Given the description of an element on the screen output the (x, y) to click on. 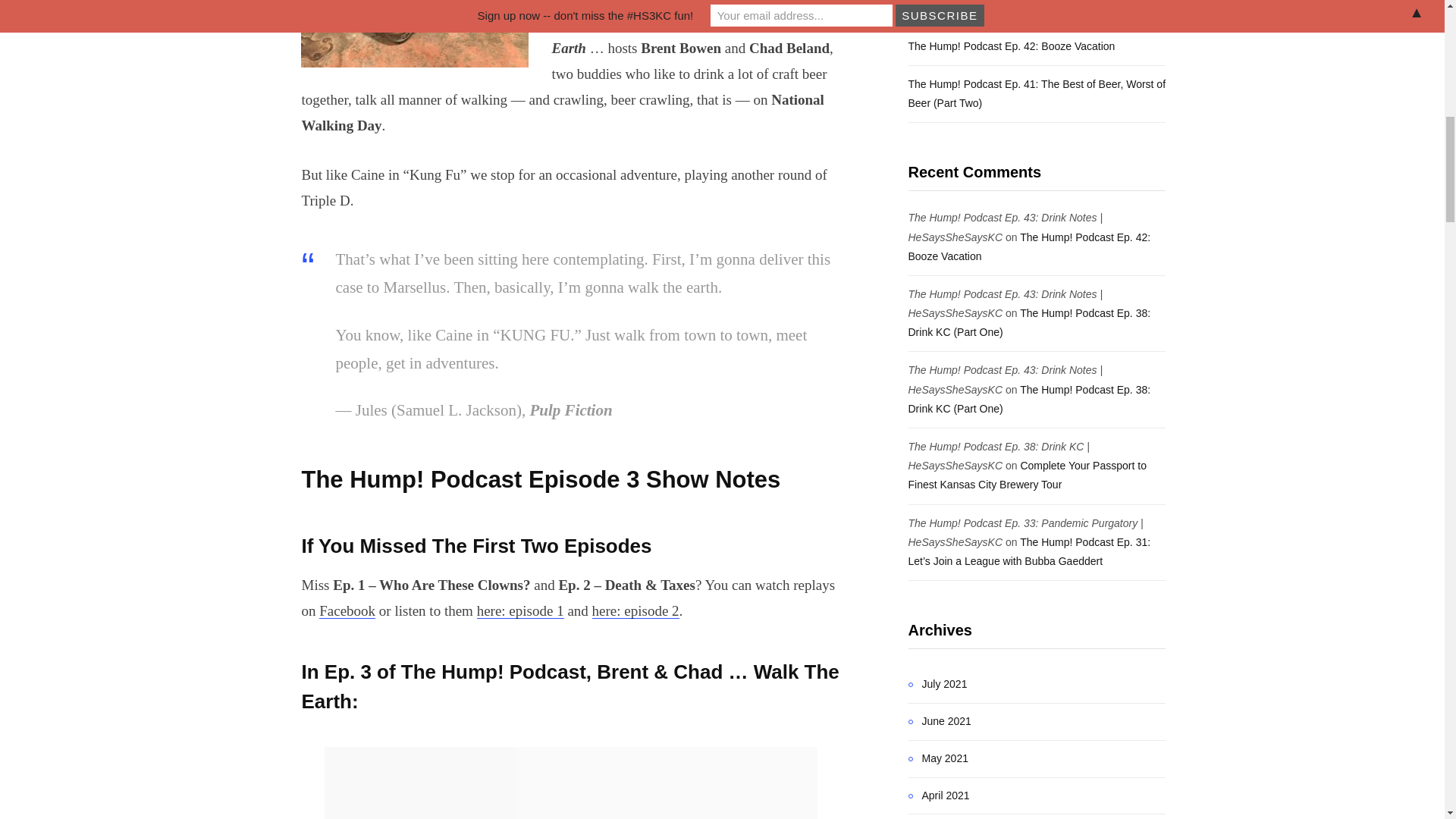
here: episode 1 (520, 610)
here: episode 2 (635, 610)
Facebook (346, 610)
